Given the description of an element on the screen output the (x, y) to click on. 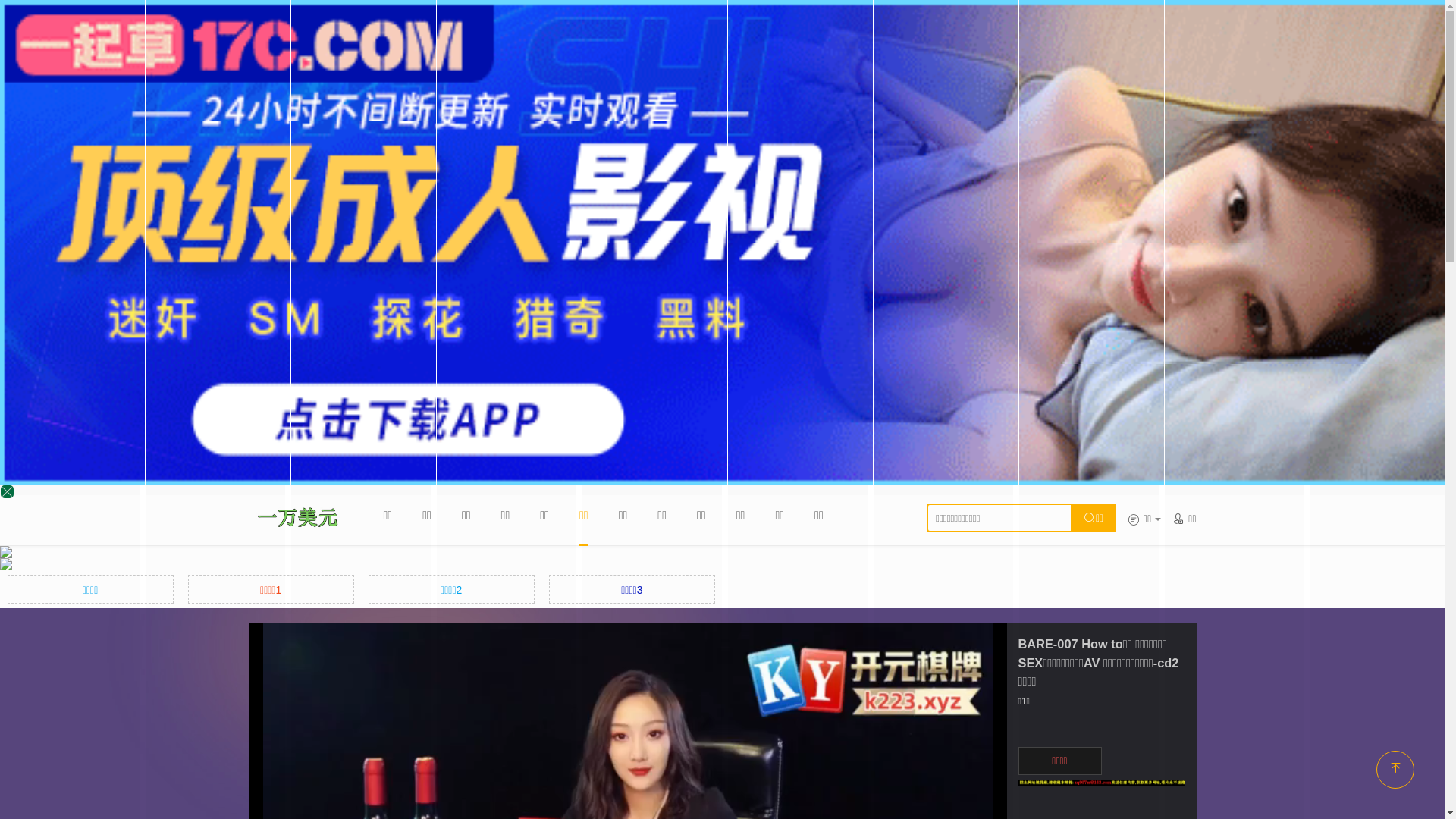
logo Element type: hover (296, 515)
